Given the description of an element on the screen output the (x, y) to click on. 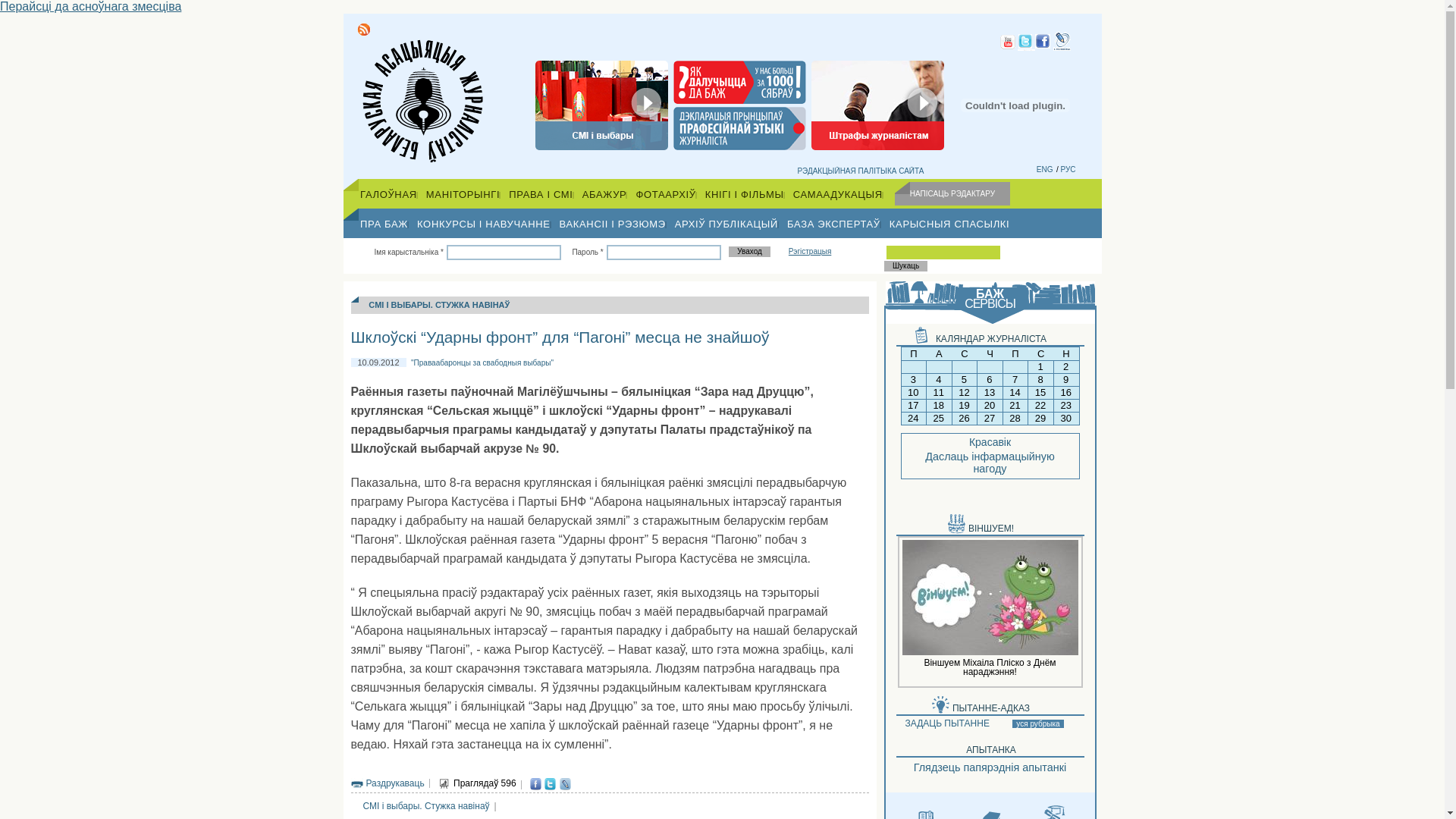
ENG Element type: text (1044, 169)
